Given the description of an element on the screen output the (x, y) to click on. 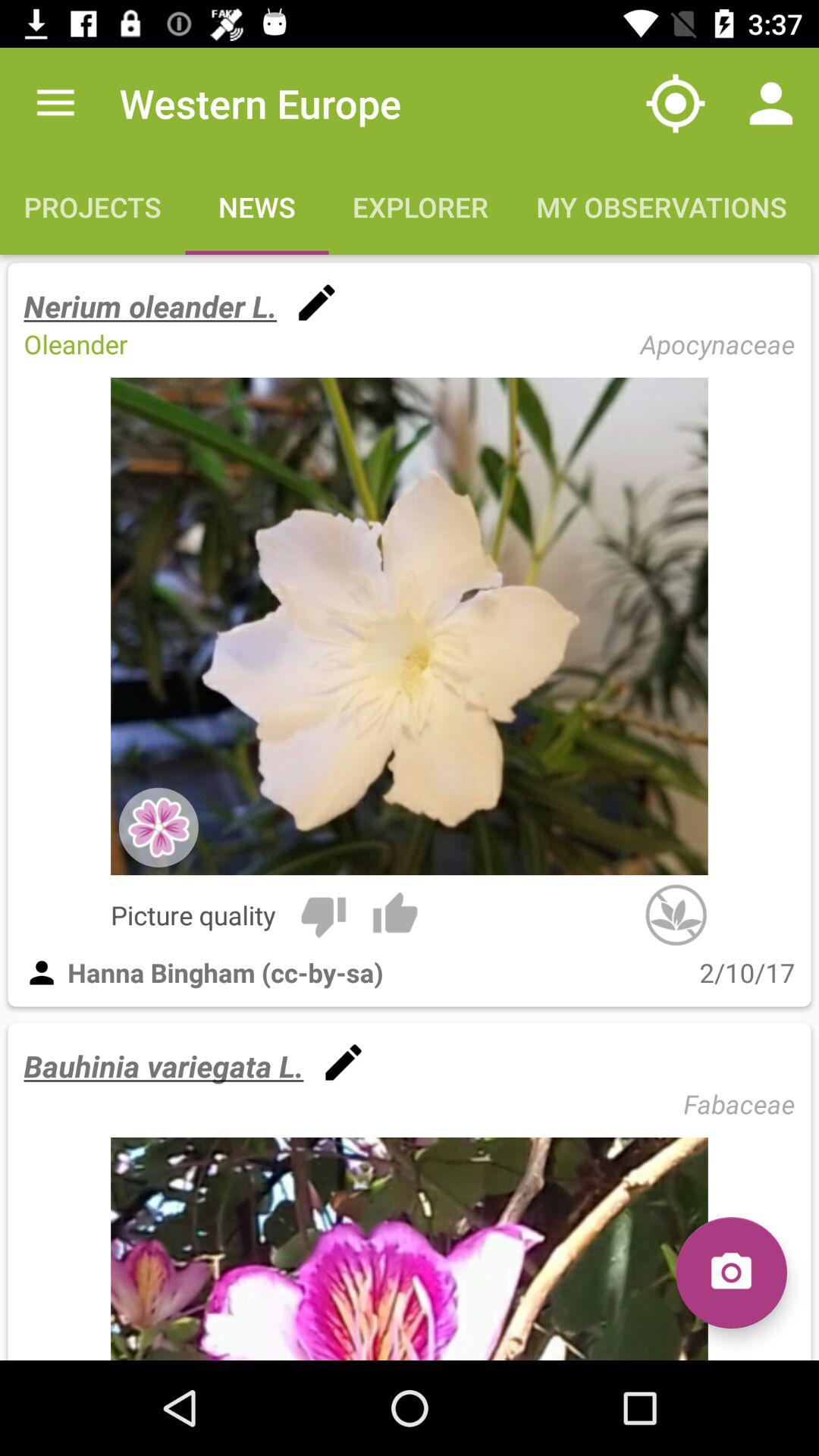
turn on item above the oleander item (149, 306)
